Given the description of an element on the screen output the (x, y) to click on. 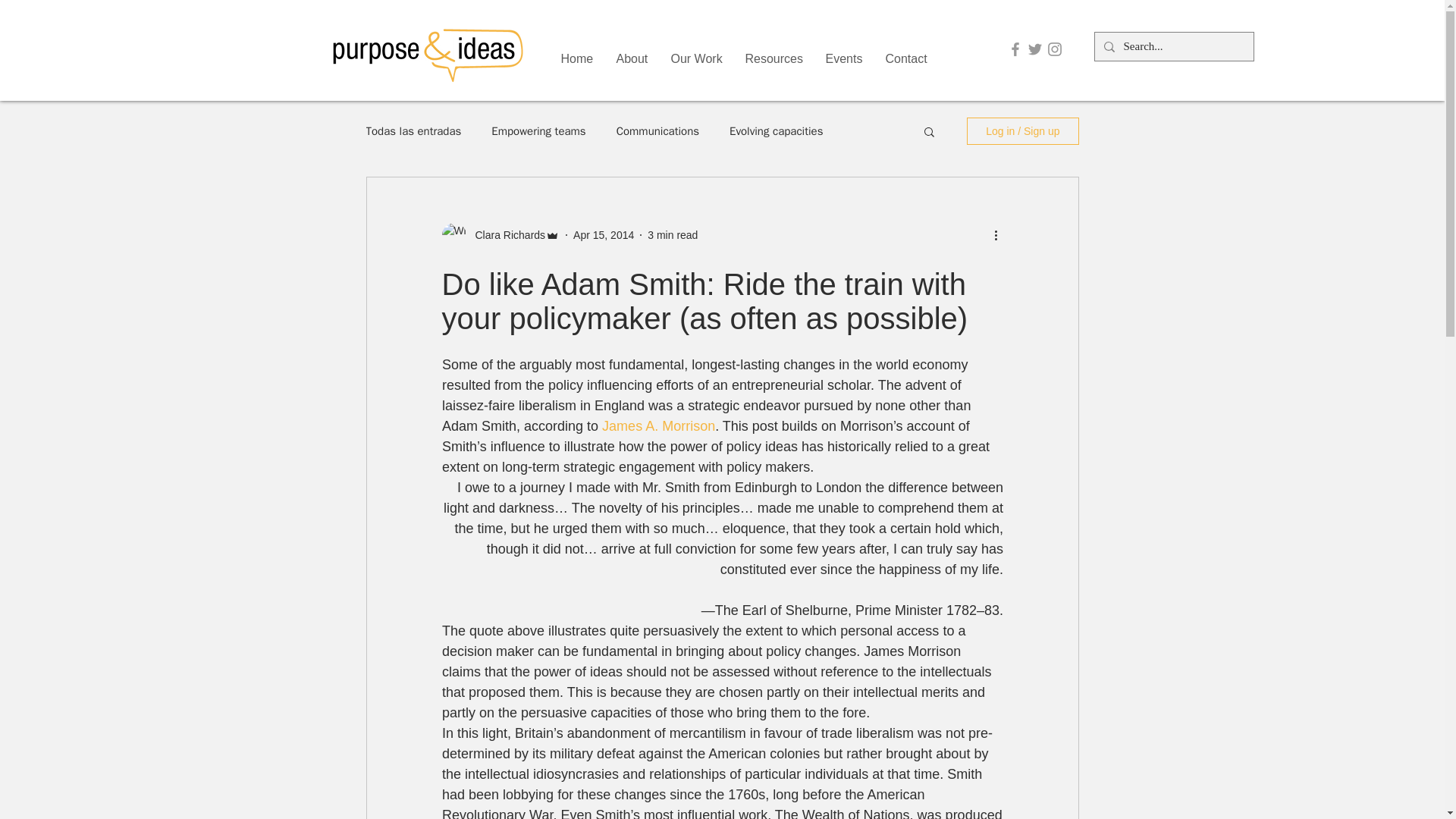
Our Work (696, 58)
Todas las entradas (413, 131)
Clara Richards (504, 235)
Events (844, 58)
Home (576, 58)
Contact (905, 58)
About (632, 58)
3 min read (672, 234)
Resources (773, 58)
Apr 15, 2014 (603, 234)
Empowering teams (538, 131)
James A. Morrison (658, 426)
Communications (656, 131)
Evolving capacities (775, 131)
